Given the description of an element on the screen output the (x, y) to click on. 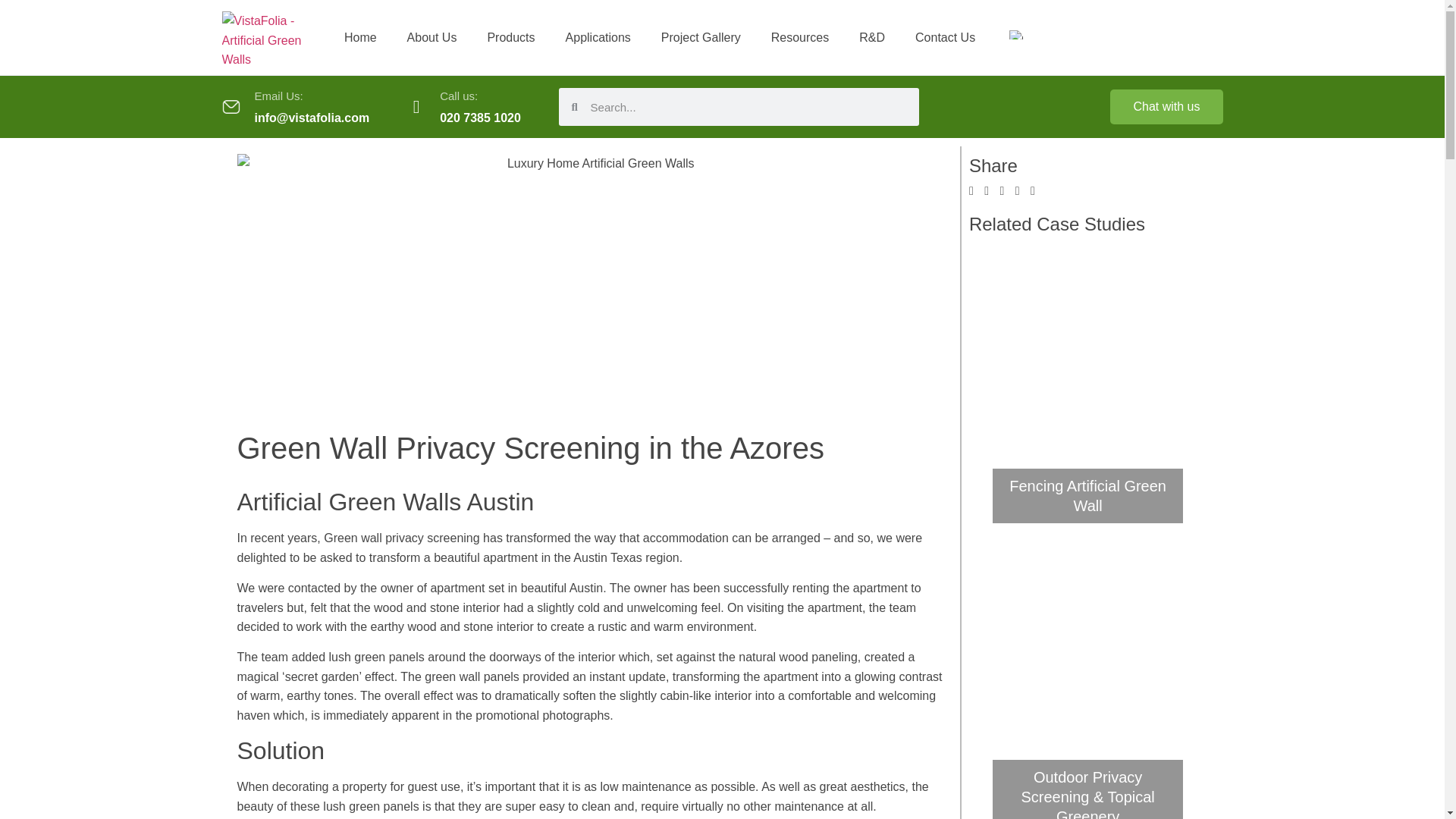
Applications (598, 36)
Home (360, 36)
About Us (431, 36)
Products (510, 36)
English (1016, 34)
